Given the description of an element on the screen output the (x, y) to click on. 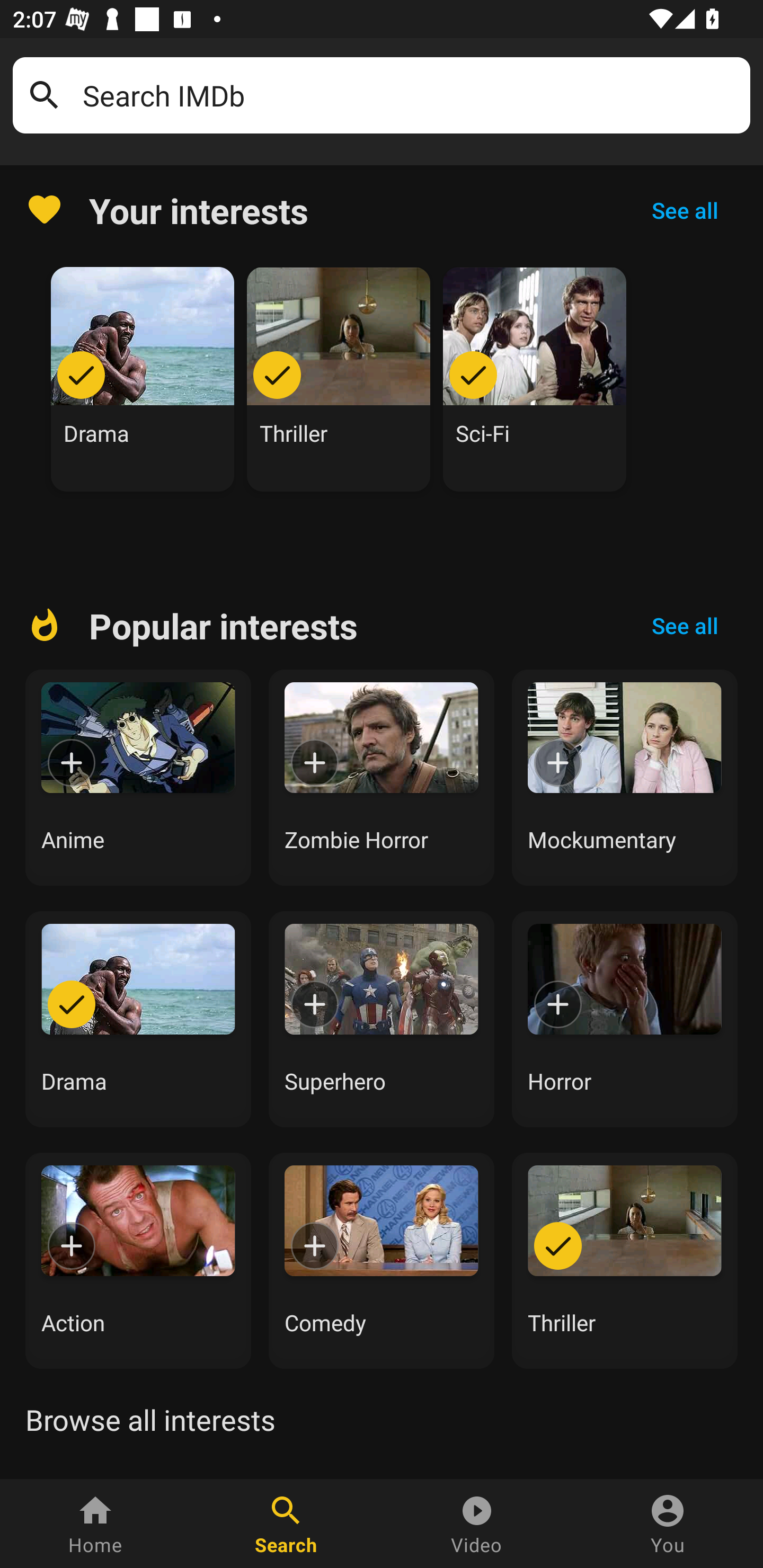
Search IMDb (410, 95)
See all (684, 209)
Drama (142, 379)
Thriller (338, 379)
Sci-Fi (534, 379)
See all (684, 625)
Anime (138, 777)
Zombie Horror (381, 777)
Mockumentary (624, 777)
Drama (138, 1018)
Superhero (381, 1018)
Horror (624, 1018)
Action (138, 1260)
Comedy (381, 1260)
Thriller (624, 1260)
Browse all interests (150, 1419)
Home (95, 1523)
Video (476, 1523)
You (667, 1523)
